Given the description of an element on the screen output the (x, y) to click on. 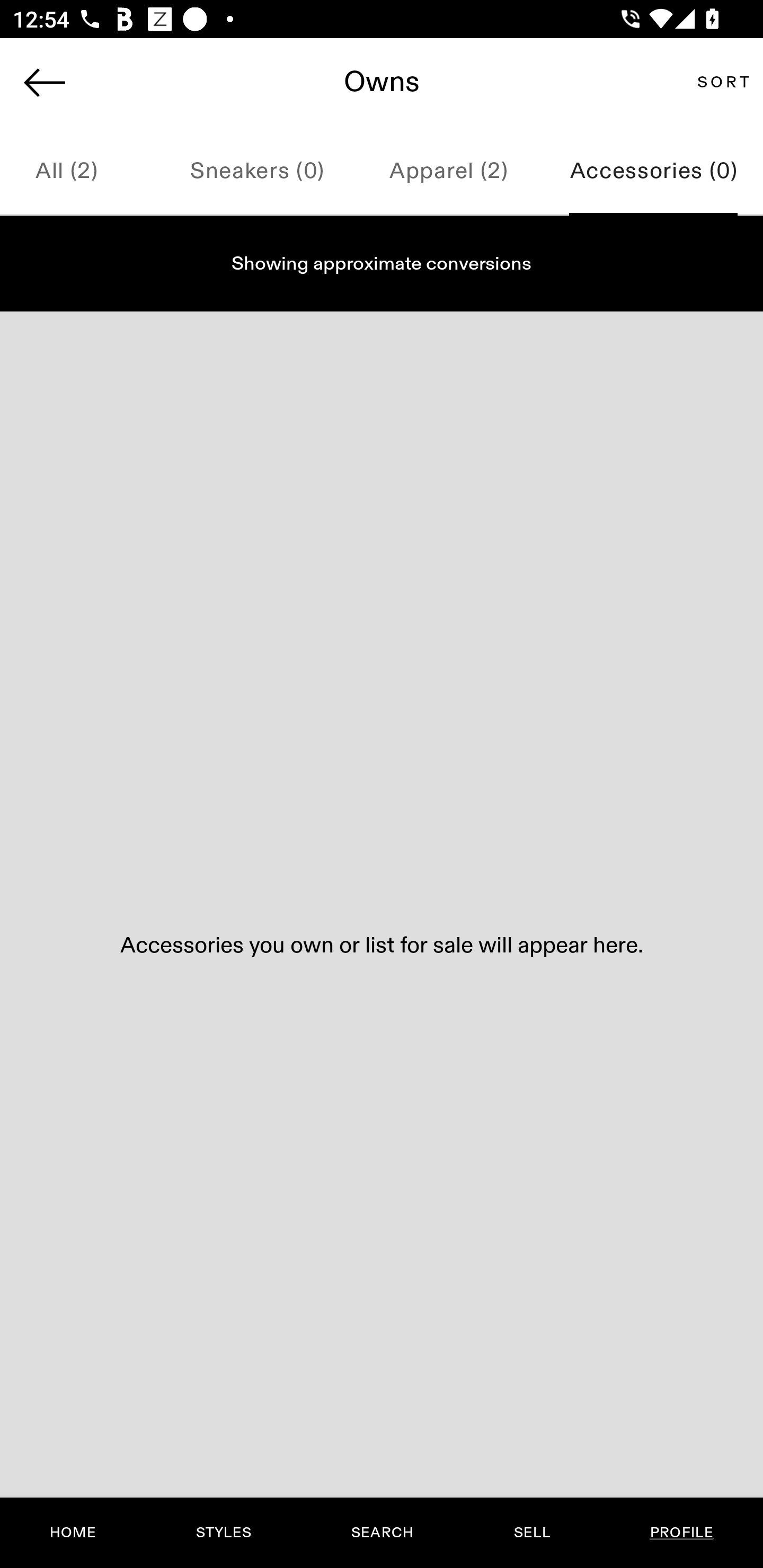
SORT (722, 81)
All (2) (80, 171)
Sneakers (0) (256, 171)
Apparel (2) (447, 171)
HOME (72, 1532)
STYLES (222, 1532)
SEARCH (381, 1532)
SELL (531, 1532)
PROFILE (681, 1532)
